Given the description of an element on the screen output the (x, y) to click on. 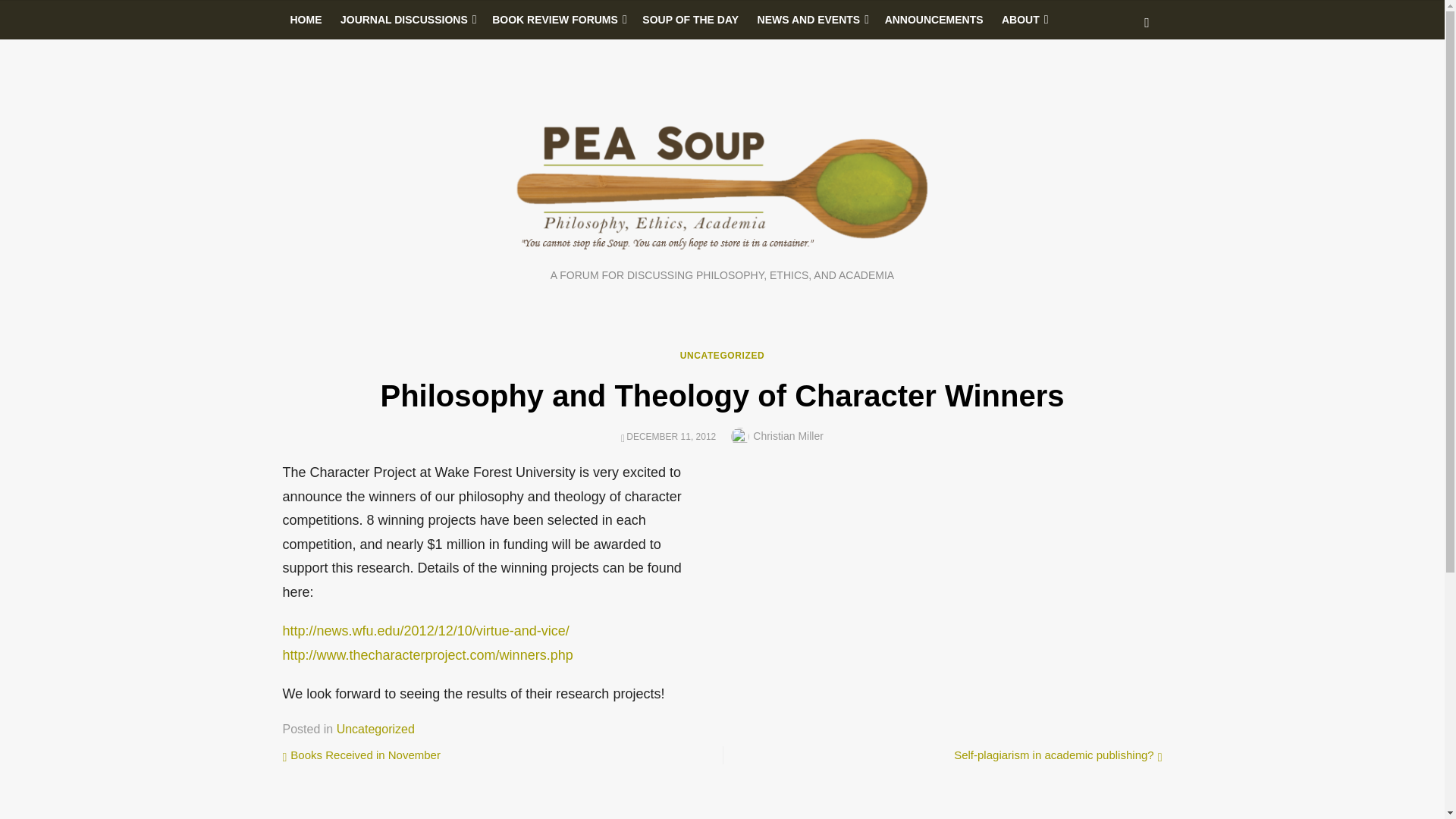
HOME (305, 19)
BOOK REVIEW FORUMS (557, 19)
JOURNAL DISCUSSIONS (407, 19)
